Given the description of an element on the screen output the (x, y) to click on. 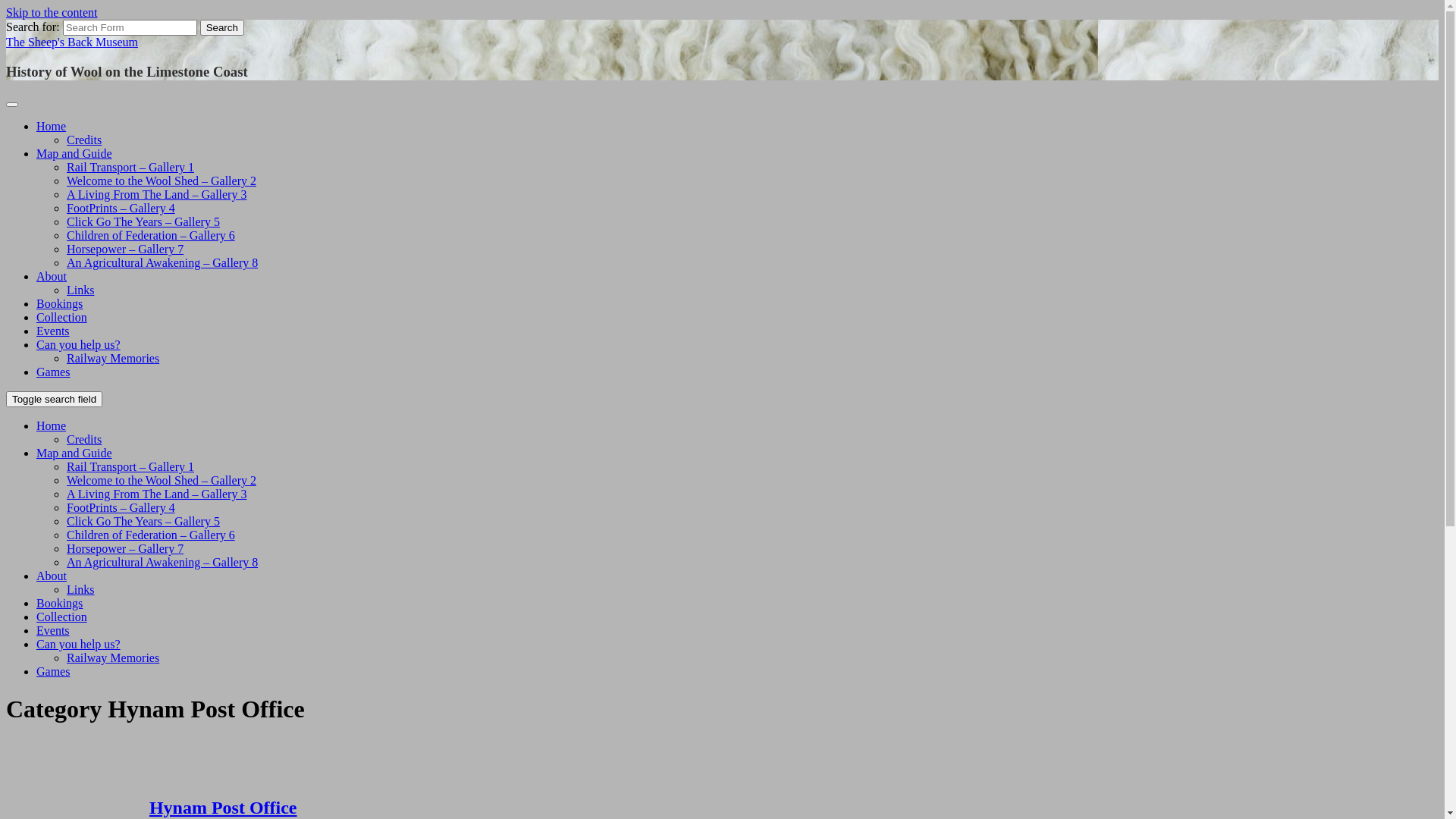
Bookings Element type: text (59, 602)
Events Element type: text (52, 330)
Map and Guide Element type: text (74, 153)
Map and Guide Element type: text (74, 452)
About Element type: text (51, 575)
Railway Memories Element type: text (112, 657)
Games Element type: text (52, 371)
Home Element type: text (50, 425)
Events Element type: text (52, 630)
Home Element type: text (50, 125)
Railway Memories Element type: text (112, 357)
Collection Element type: text (61, 316)
Can you help us? Element type: text (78, 344)
Toggle search field Element type: text (54, 399)
Hynam Post Office Element type: text (223, 807)
Credits Element type: text (83, 439)
Games Element type: text (52, 671)
Can you help us? Element type: text (78, 643)
Bookings Element type: text (59, 303)
Collection Element type: text (61, 616)
About Element type: text (51, 275)
Credits Element type: text (83, 139)
The Sheep's Back Museum Element type: text (72, 41)
Skip to the content Element type: text (51, 12)
Search Element type: text (222, 27)
Links Element type: text (80, 589)
Links Element type: text (80, 289)
